Given the description of an element on the screen output the (x, y) to click on. 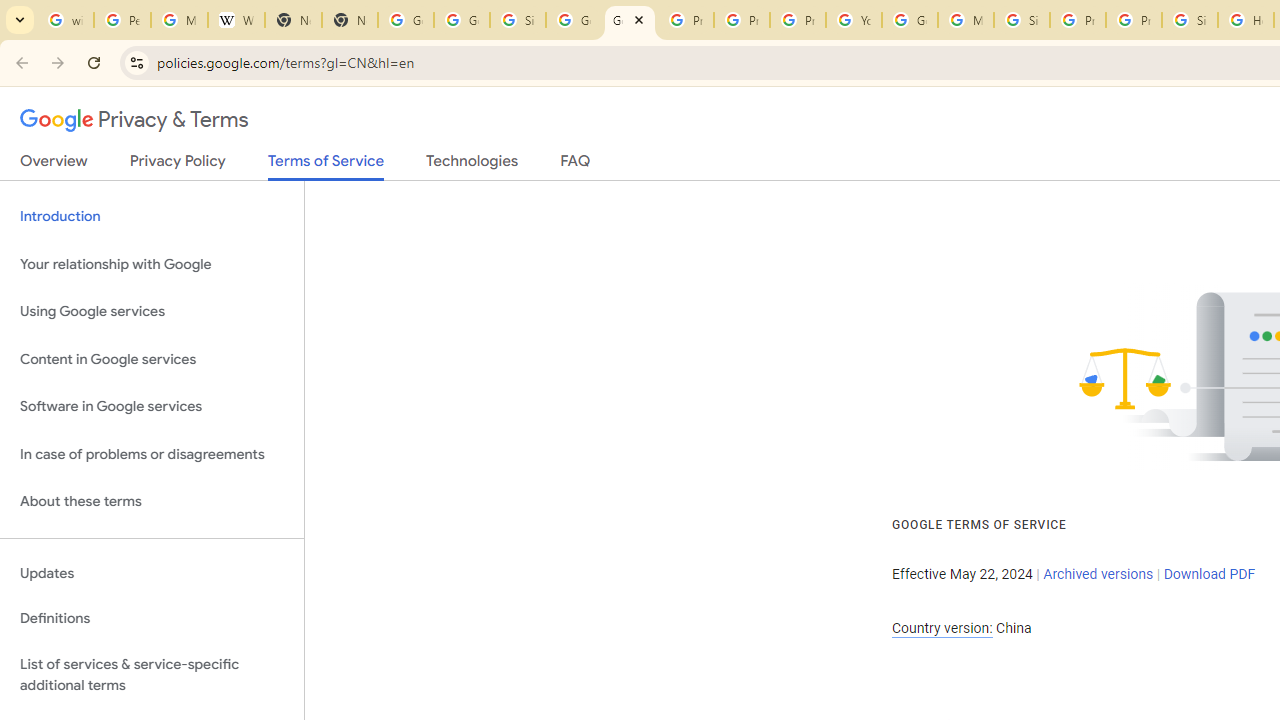
YouTube (853, 20)
Personalization & Google Search results - Google Search Help (122, 20)
New Tab (349, 20)
Sign in - Google Accounts (1021, 20)
Your relationship with Google (152, 263)
Content in Google services (152, 358)
Google Account Help (909, 20)
